Given the description of an element on the screen output the (x, y) to click on. 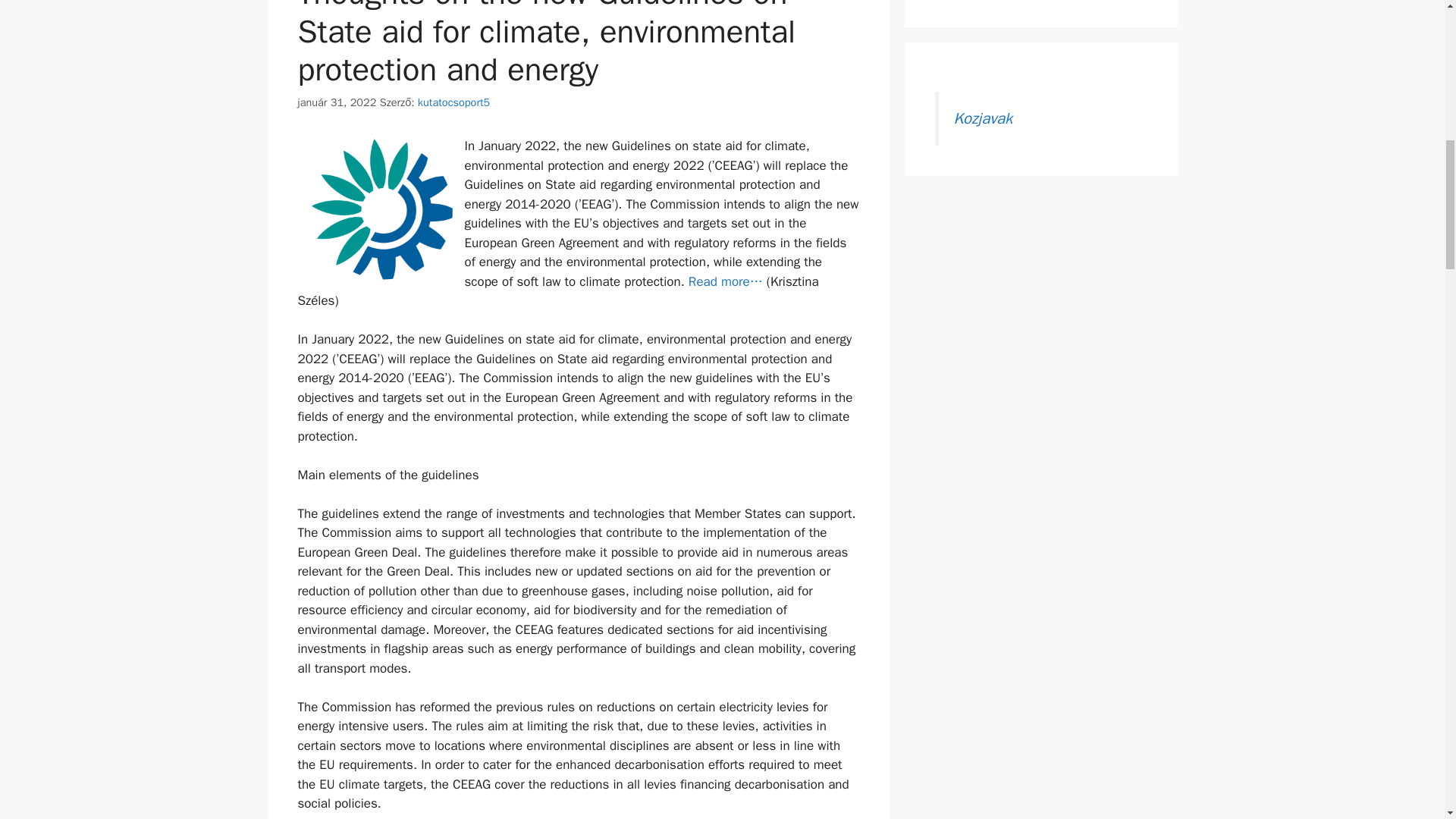
kutatocsoport5 (453, 101)
Kozjavak (983, 117)
